Given the description of an element on the screen output the (x, y) to click on. 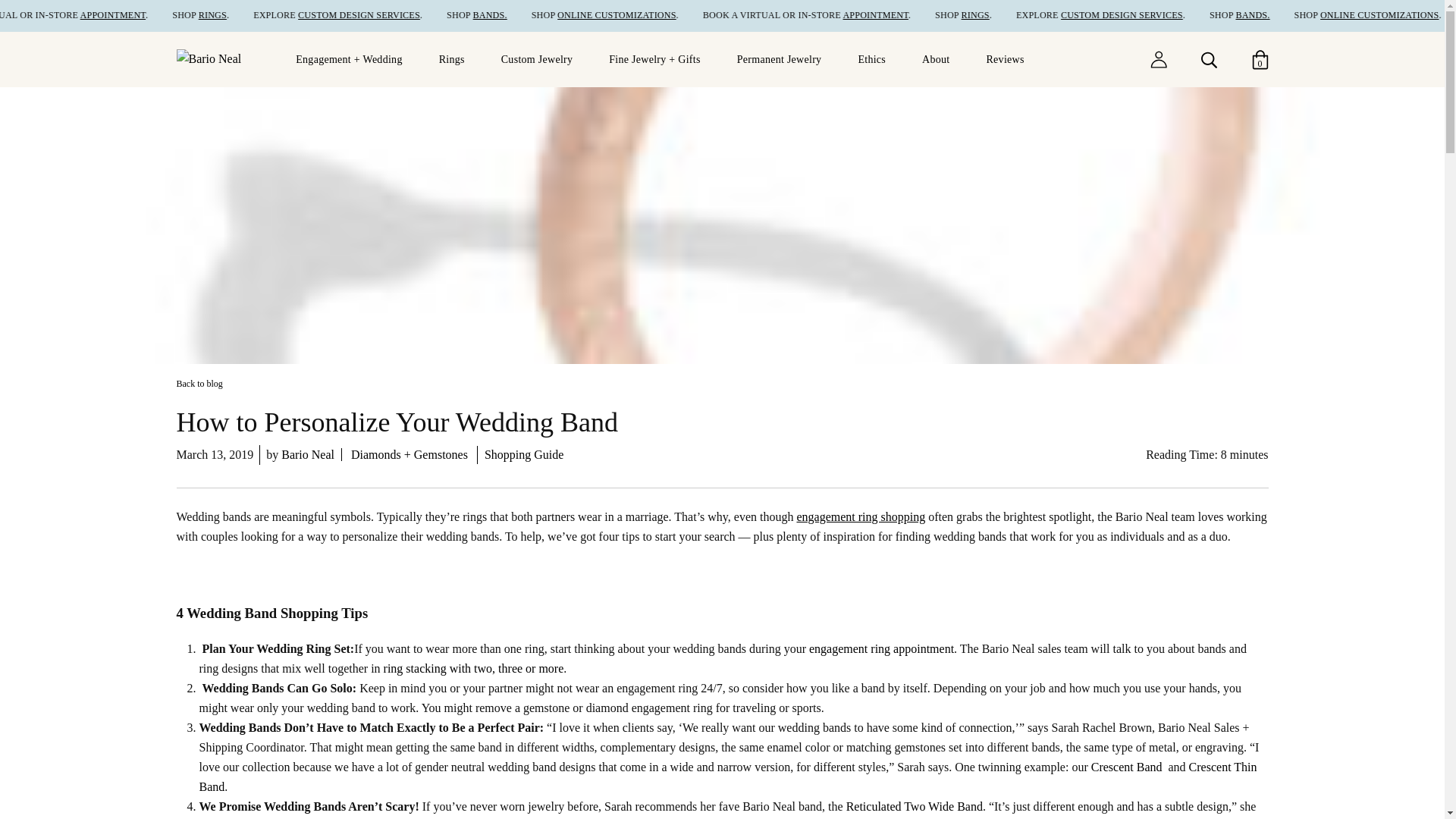
BANDS. (1307, 14)
RINGS (1031, 14)
My Account (1158, 57)
CUSTOM DESIGN SERVICES (417, 14)
RINGS (271, 14)
ONLINE CUSTOMIZATIONS (673, 14)
APPOINTMENT (931, 14)
BANDS. (547, 14)
APPOINTMENT (172, 14)
CUSTOM DESIGN SERVICES (1177, 14)
